Given the description of an element on the screen output the (x, y) to click on. 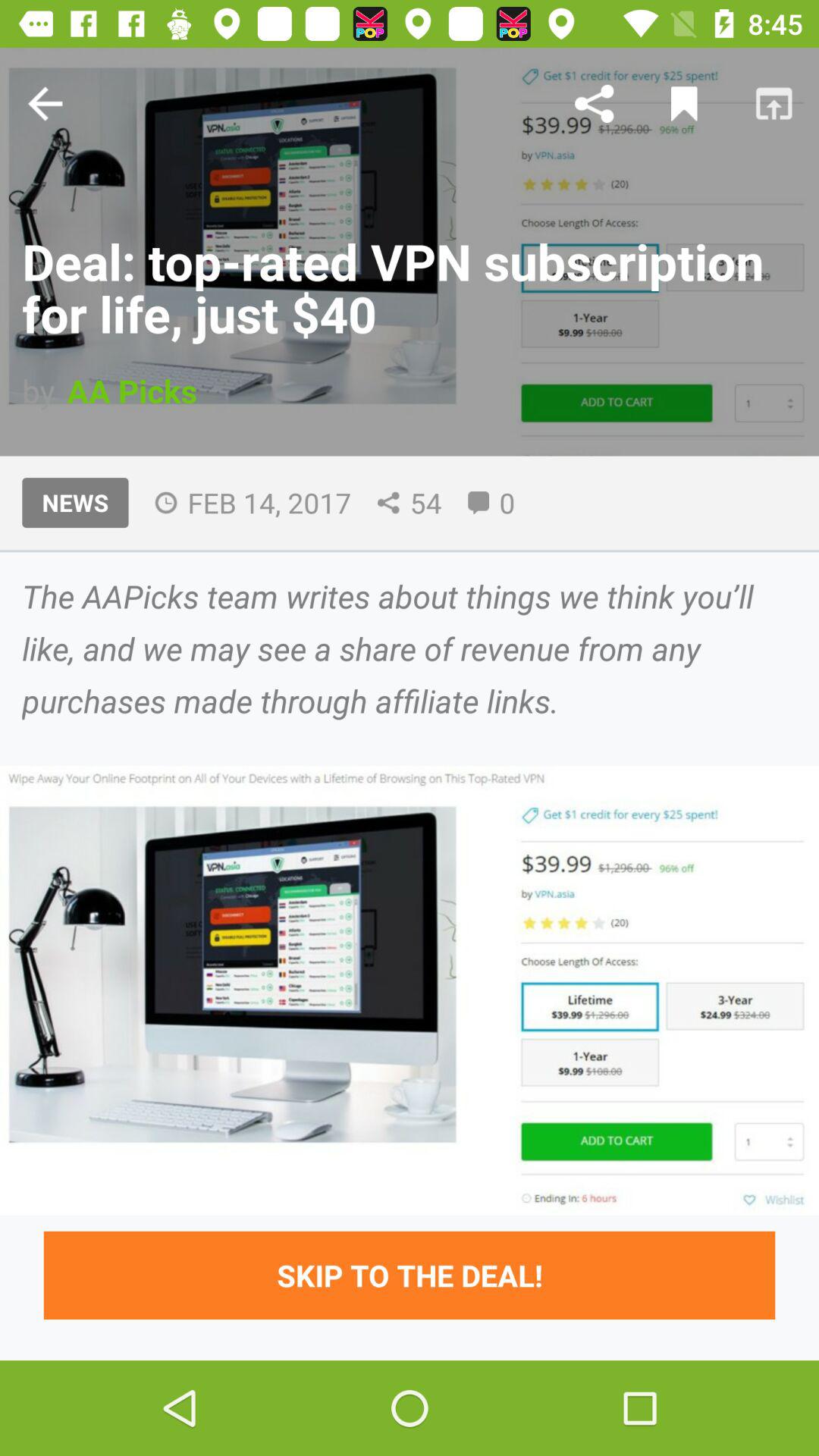
press skip to the item (409, 1275)
